Given the description of an element on the screen output the (x, y) to click on. 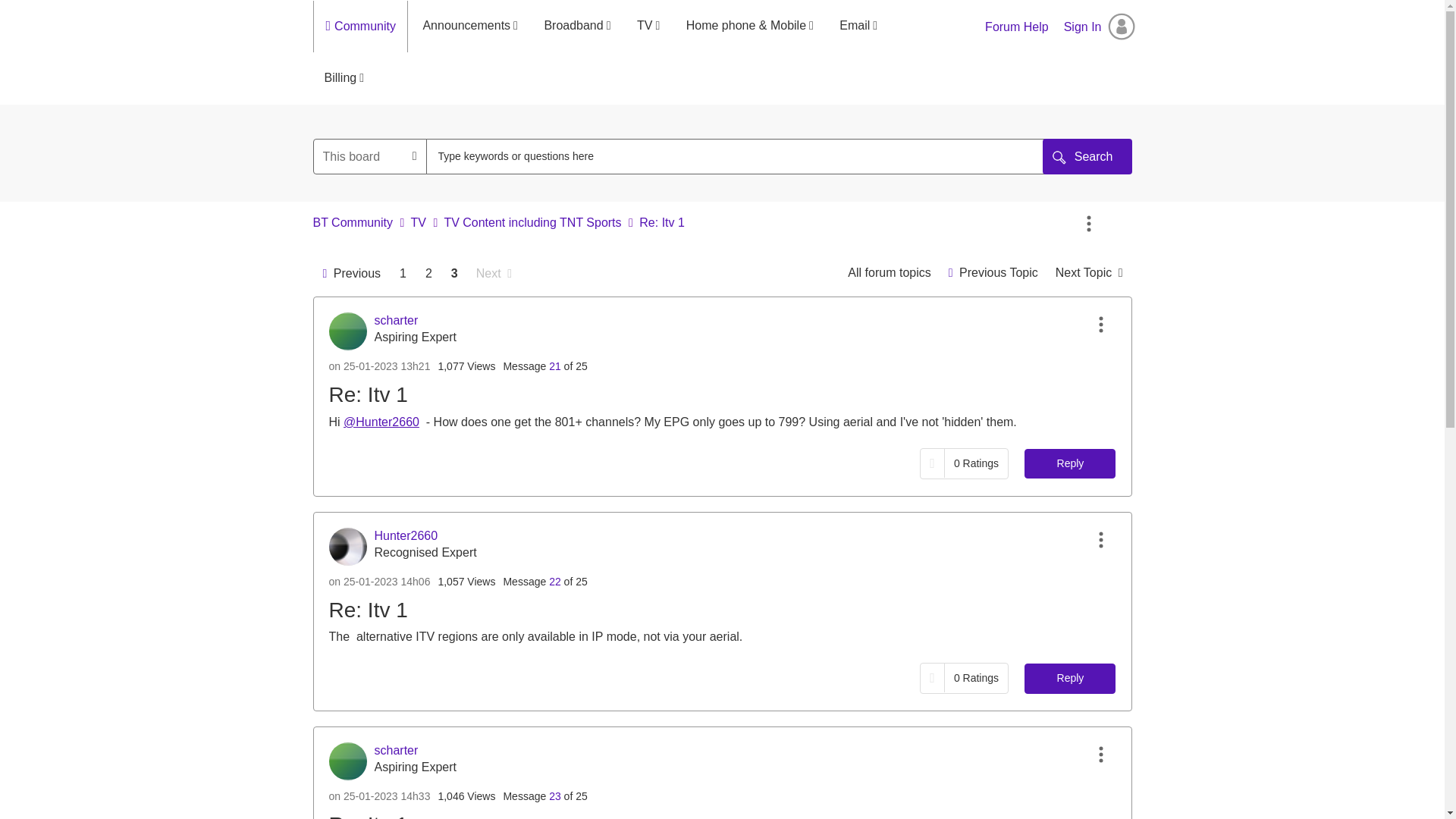
Show option menu (1100, 324)
scharter (347, 331)
BT Community (353, 222)
Forum Help (1016, 26)
Billing (344, 78)
Search (1087, 156)
Community (368, 26)
Search (1087, 156)
Bt tv with NOW entertainment (992, 272)
TV (417, 222)
Search (1087, 156)
Email (858, 25)
Search (742, 156)
Sign In (1099, 26)
Search Granularity (370, 156)
